Given the description of an element on the screen output the (x, y) to click on. 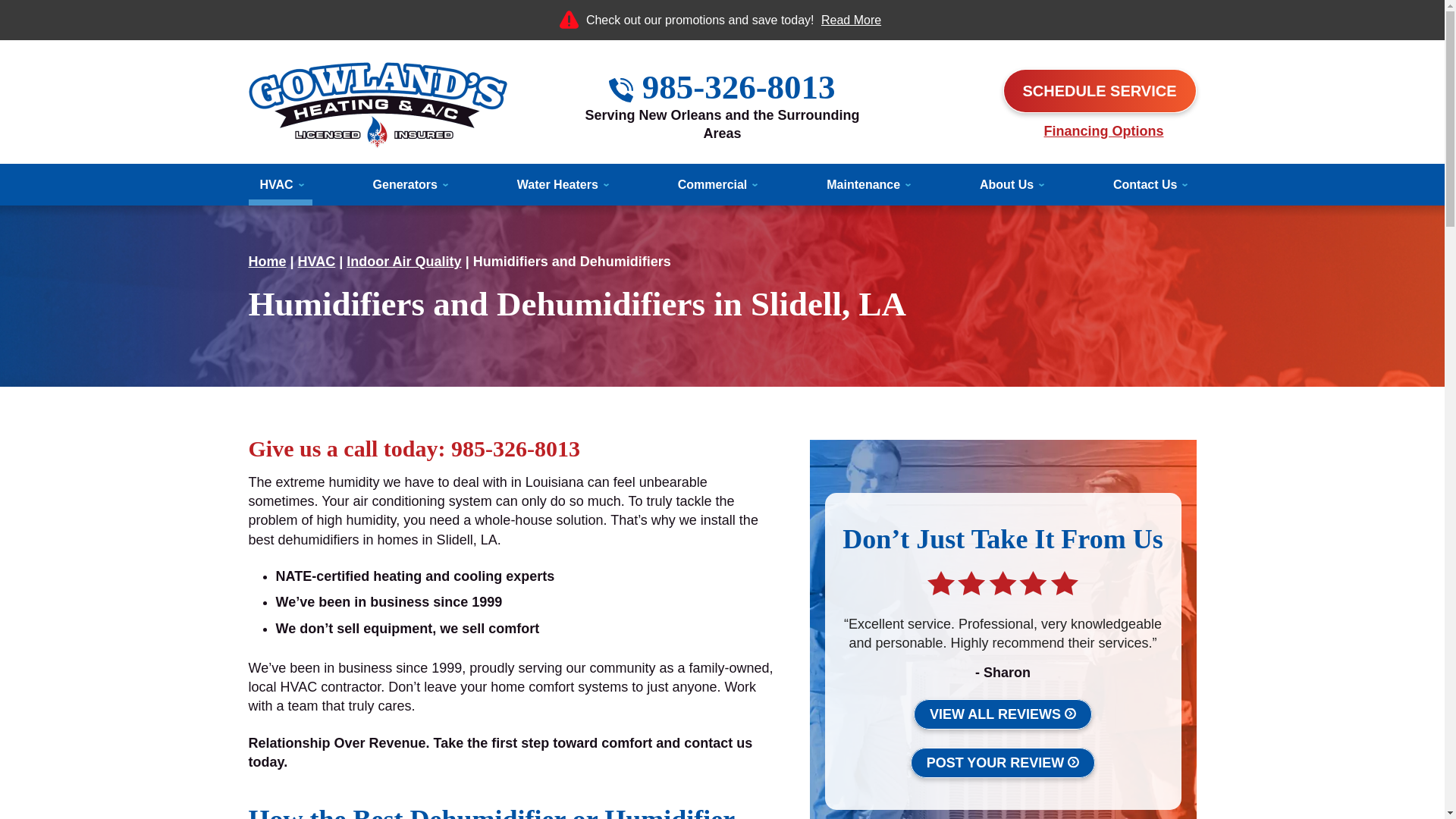
985-326-8013 (738, 86)
HVAC (280, 184)
Financing Options (1103, 130)
SCHEDULE SERVICE (1099, 90)
Read More (850, 19)
Indoor Air Quality in Slidell, LA (403, 261)
